Given the description of an element on the screen output the (x, y) to click on. 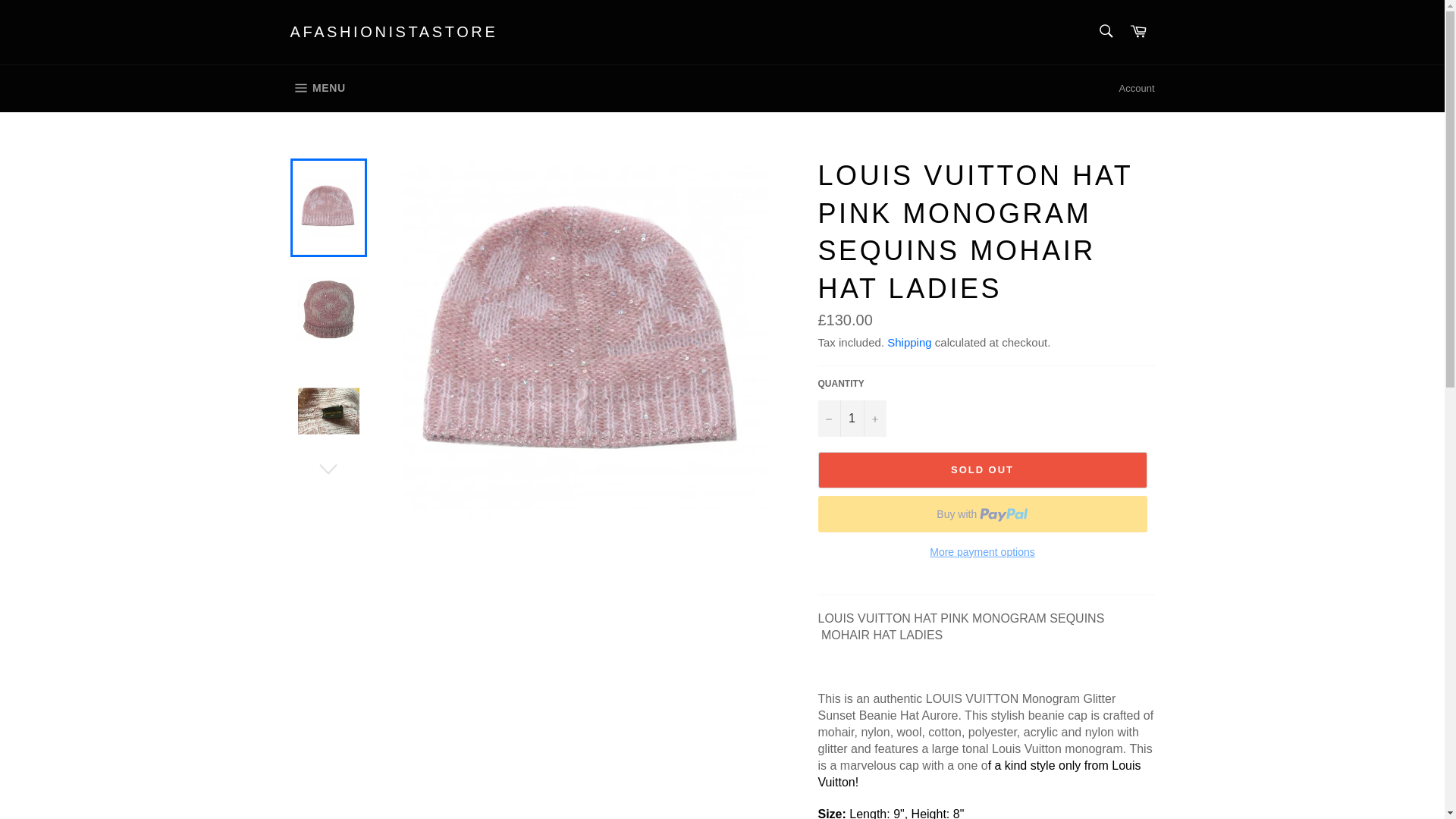
Account (1136, 88)
1 (317, 88)
Cart (850, 418)
Search (1138, 32)
AFASHIONISTASTORE (1104, 30)
